Given the description of an element on the screen output the (x, y) to click on. 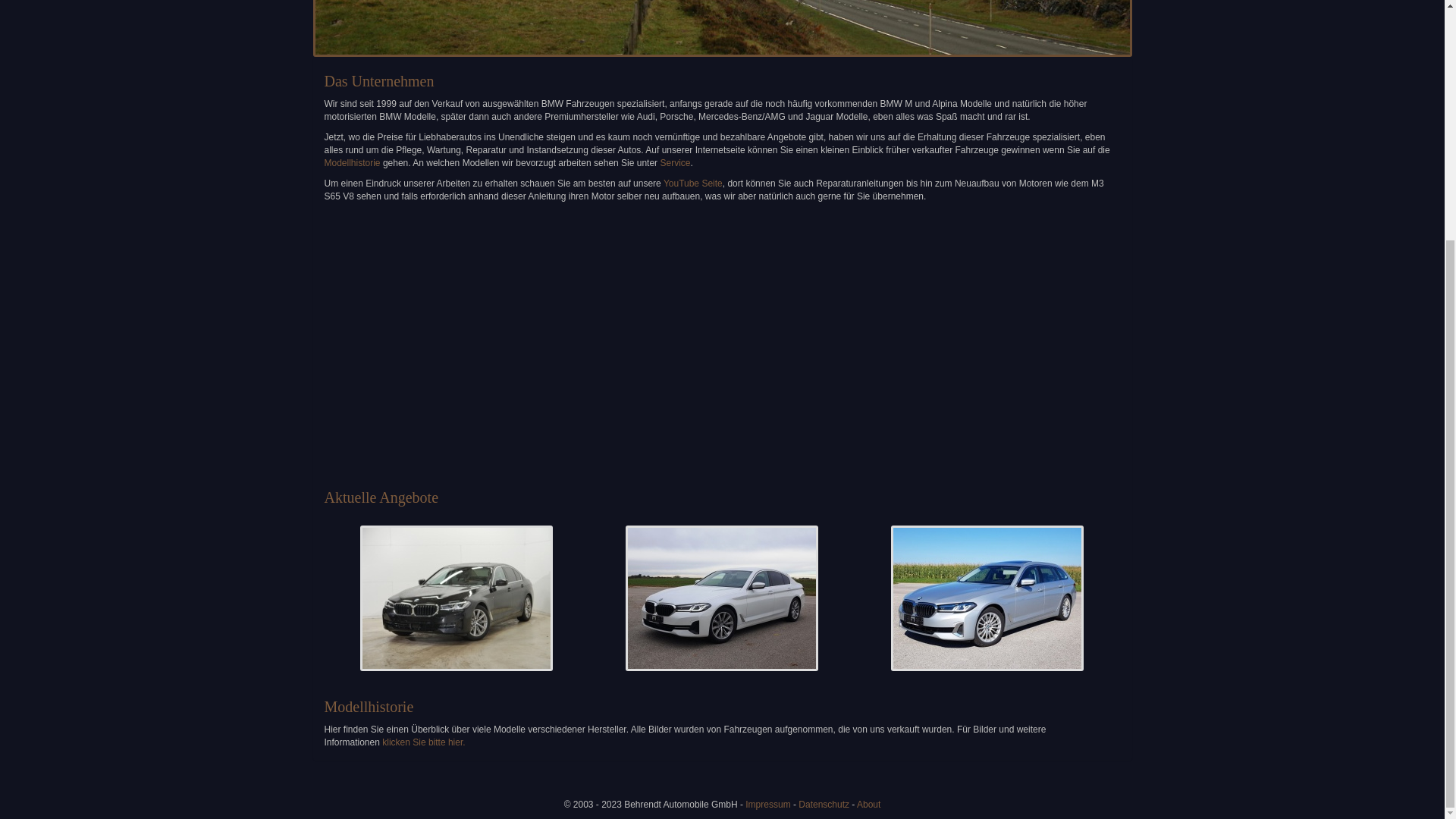
 klicken Sie bitte hier. (422, 742)
Modellhistorie (352, 163)
YouTube Seite (692, 183)
Datenschutz (822, 804)
About (868, 804)
YouTube video player (574, 346)
Impressum (767, 804)
Service (674, 163)
